Given the description of an element on the screen output the (x, y) to click on. 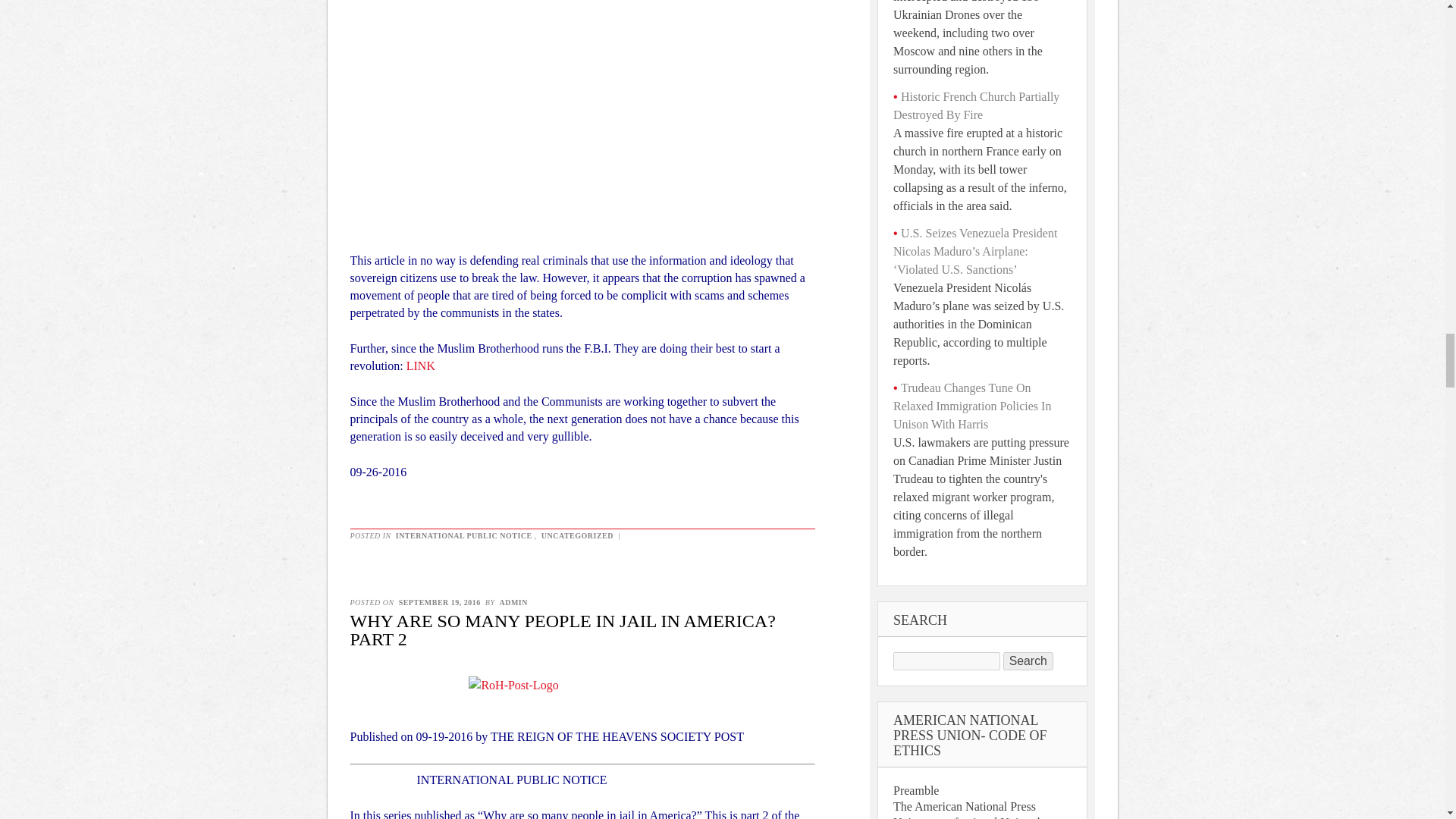
Search (1027, 660)
LINK (420, 365)
5:54 am (439, 602)
View all posts by admin (512, 602)
UNCATEGORIZED (576, 535)
ADMIN (512, 602)
SEPTEMBER 19, 2016 (439, 602)
WHY ARE SO MANY PEOPLE IN JAIL IN AMERICA? PART 2 (563, 629)
INTERNATIONAL PUBLIC NOTICE (463, 535)
